Given the description of an element on the screen output the (x, y) to click on. 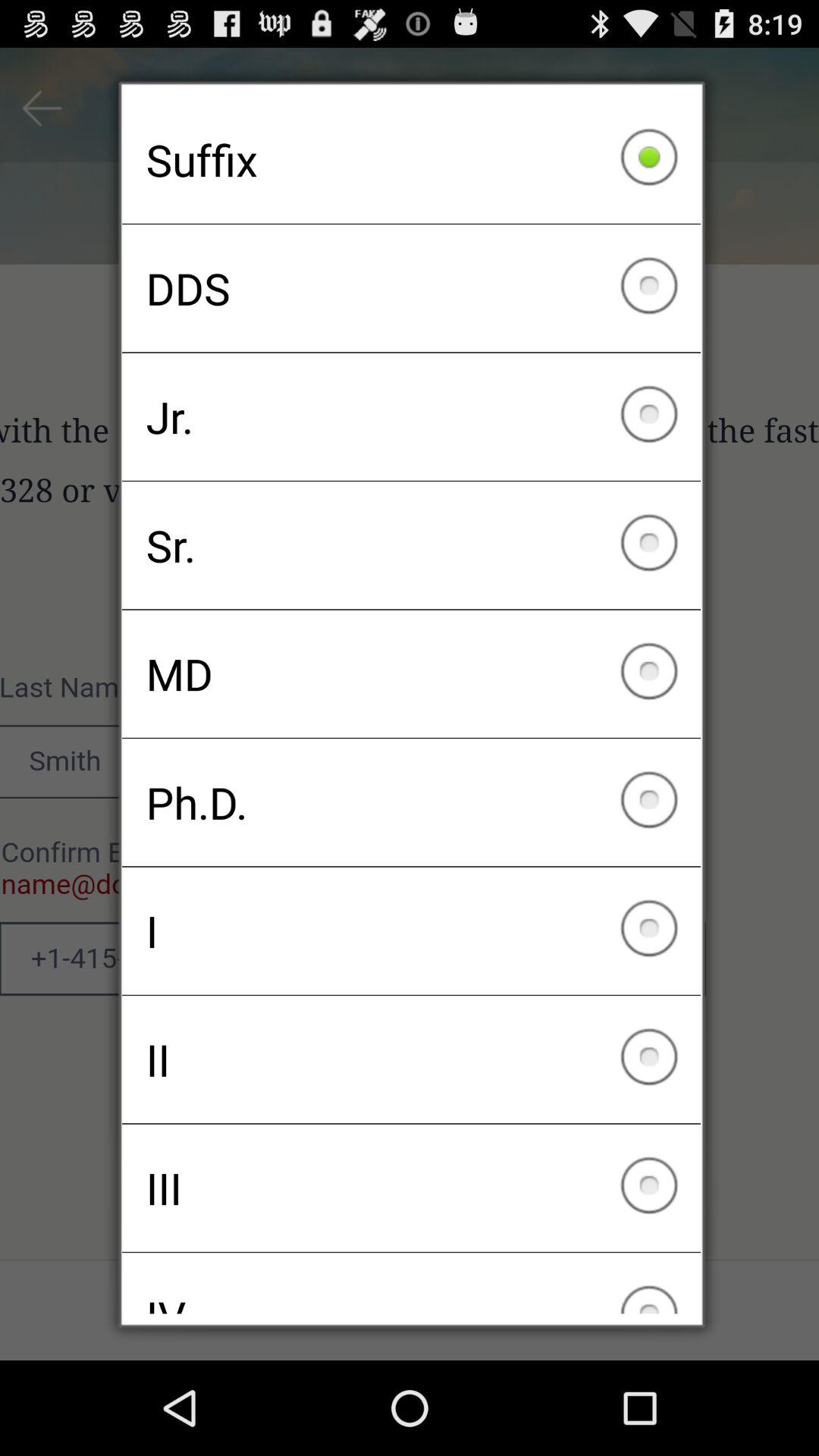
select dds checkbox (411, 288)
